Given the description of an element on the screen output the (x, y) to click on. 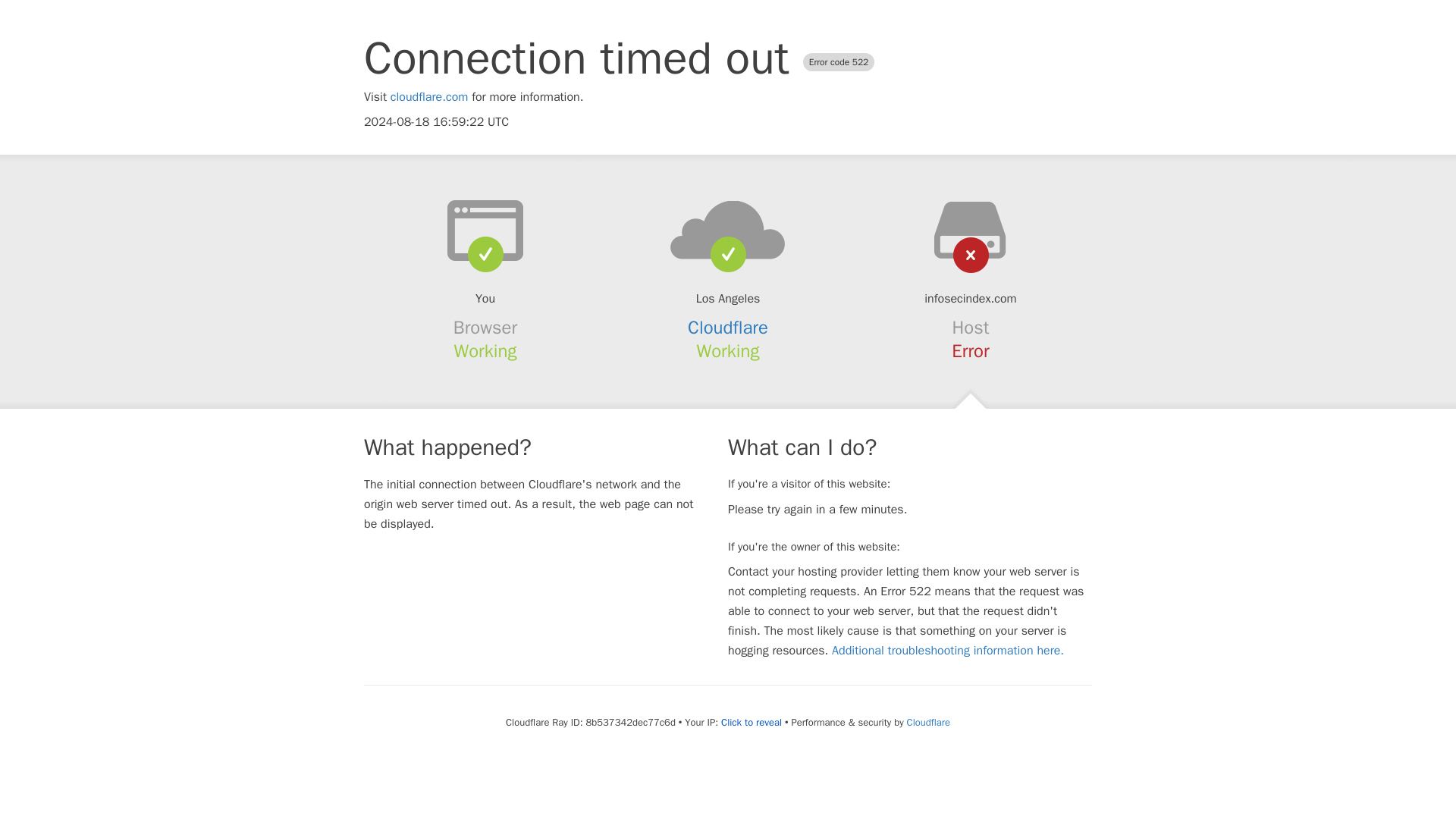
Click to reveal (750, 722)
Additional troubleshooting information here. (947, 650)
Cloudflare (727, 327)
Cloudflare (928, 721)
cloudflare.com (429, 96)
